Given the description of an element on the screen output the (x, y) to click on. 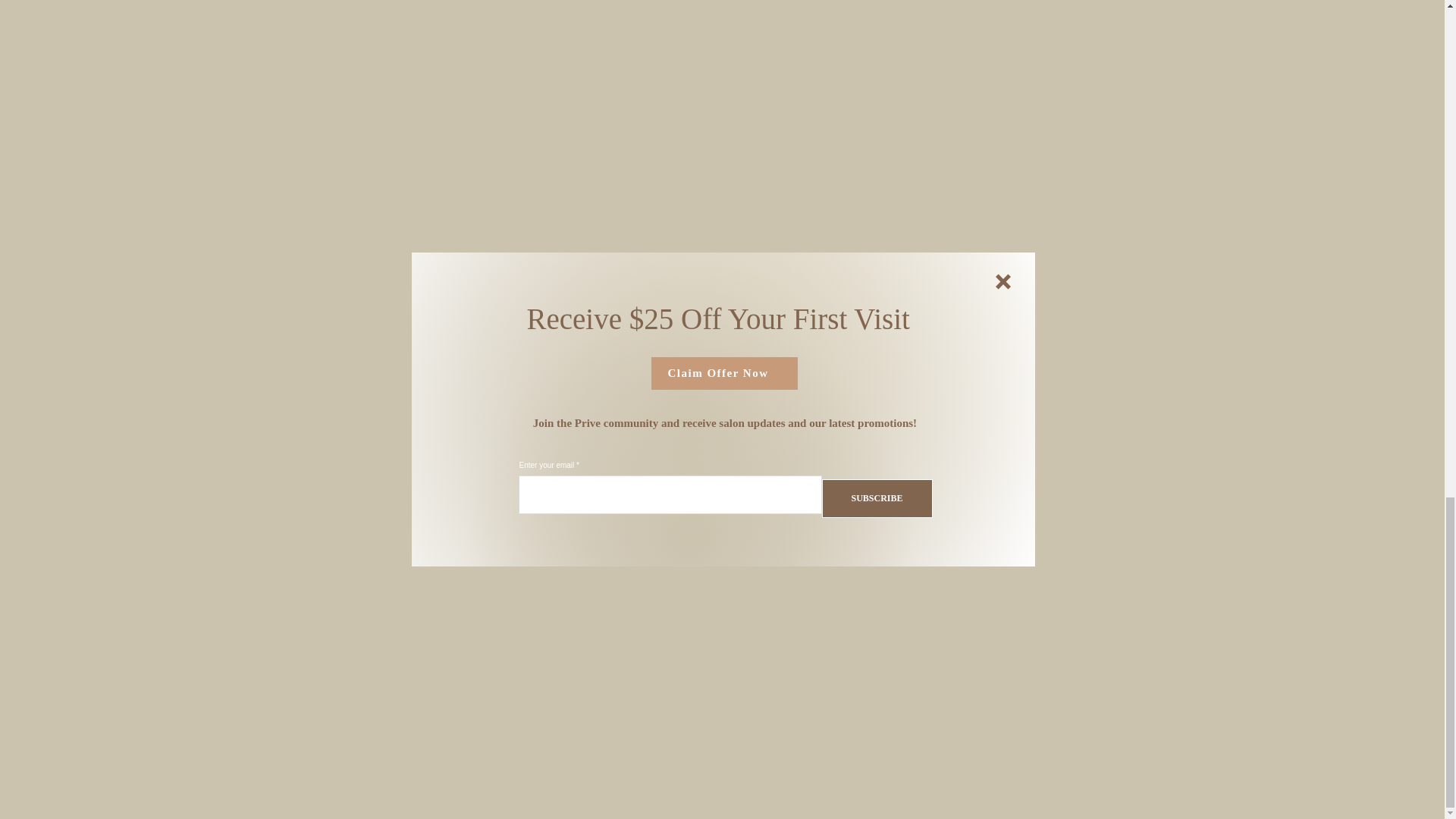
BOOK WAYNE (721, 593)
BOOK MALVERN (914, 593)
BOOK NEWTOWN SQ (528, 593)
